Given the description of an element on the screen output the (x, y) to click on. 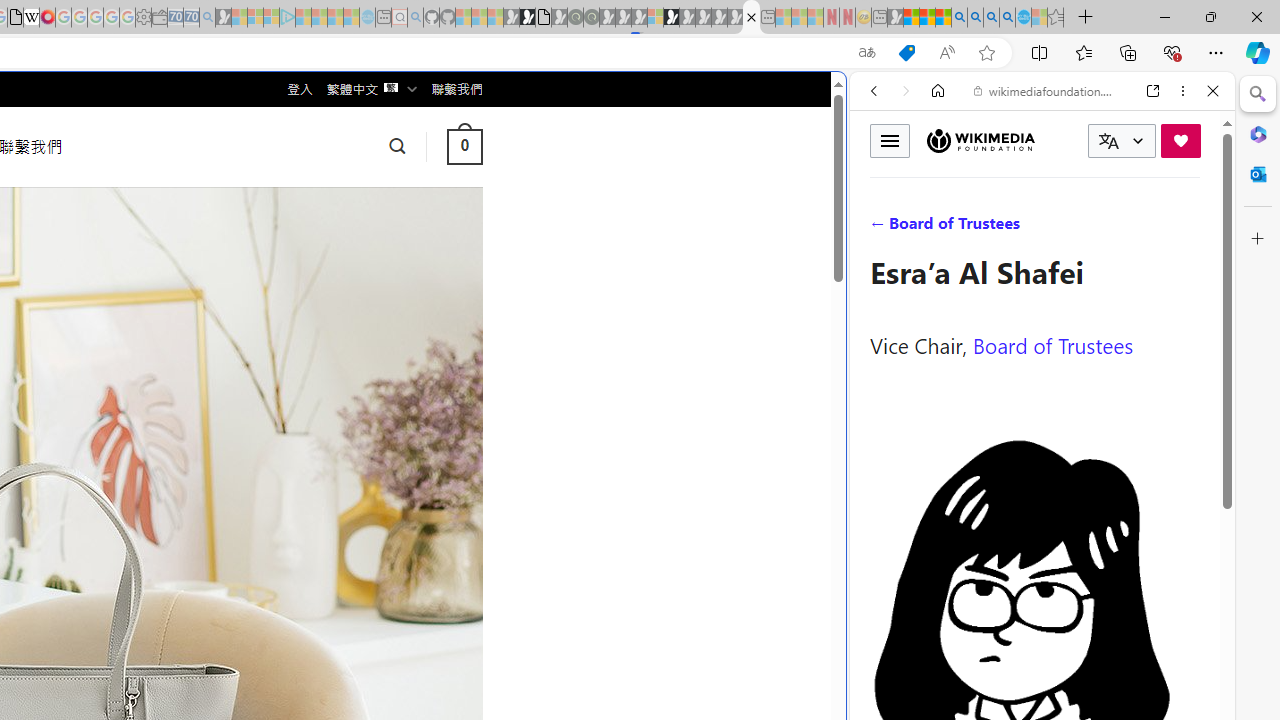
Future Focus Report 2024 - Sleeping (591, 17)
Search Filter, IMAGES (939, 228)
Microsoft Start - Sleeping (335, 17)
Search Filter, VIDEOS (1006, 228)
This site has coupons! Shopping in Microsoft Edge, 4 (906, 53)
Close Outlook pane (1258, 174)
WEB   (882, 228)
Minimize (1164, 16)
MediaWiki (47, 17)
More options (1182, 91)
Close Customize pane (1258, 239)
Nordace - Pollina Vegan Leather Collection (751, 17)
